Given the description of an element on the screen output the (x, y) to click on. 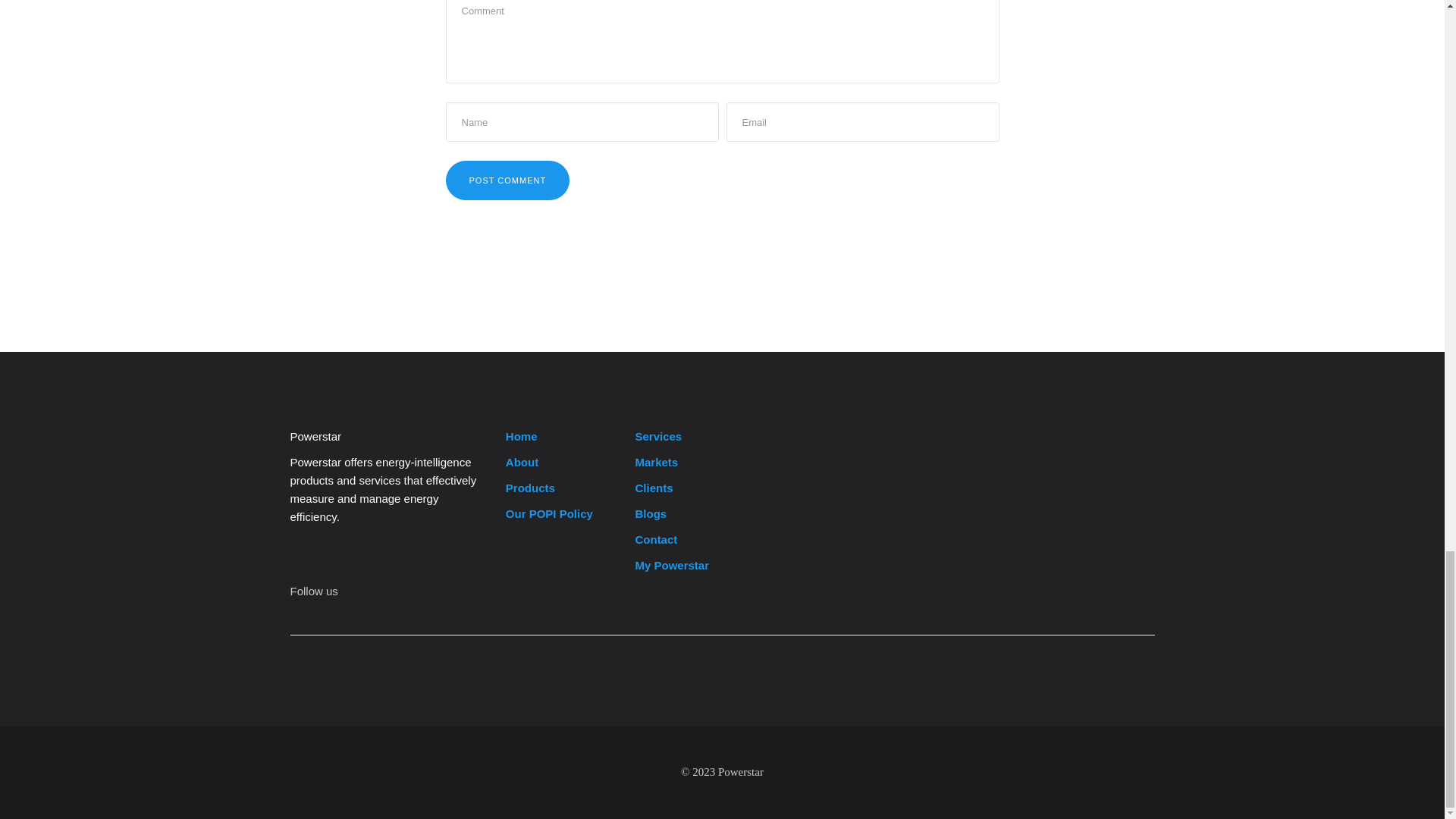
Post Comment (507, 179)
